Given the description of an element on the screen output the (x, y) to click on. 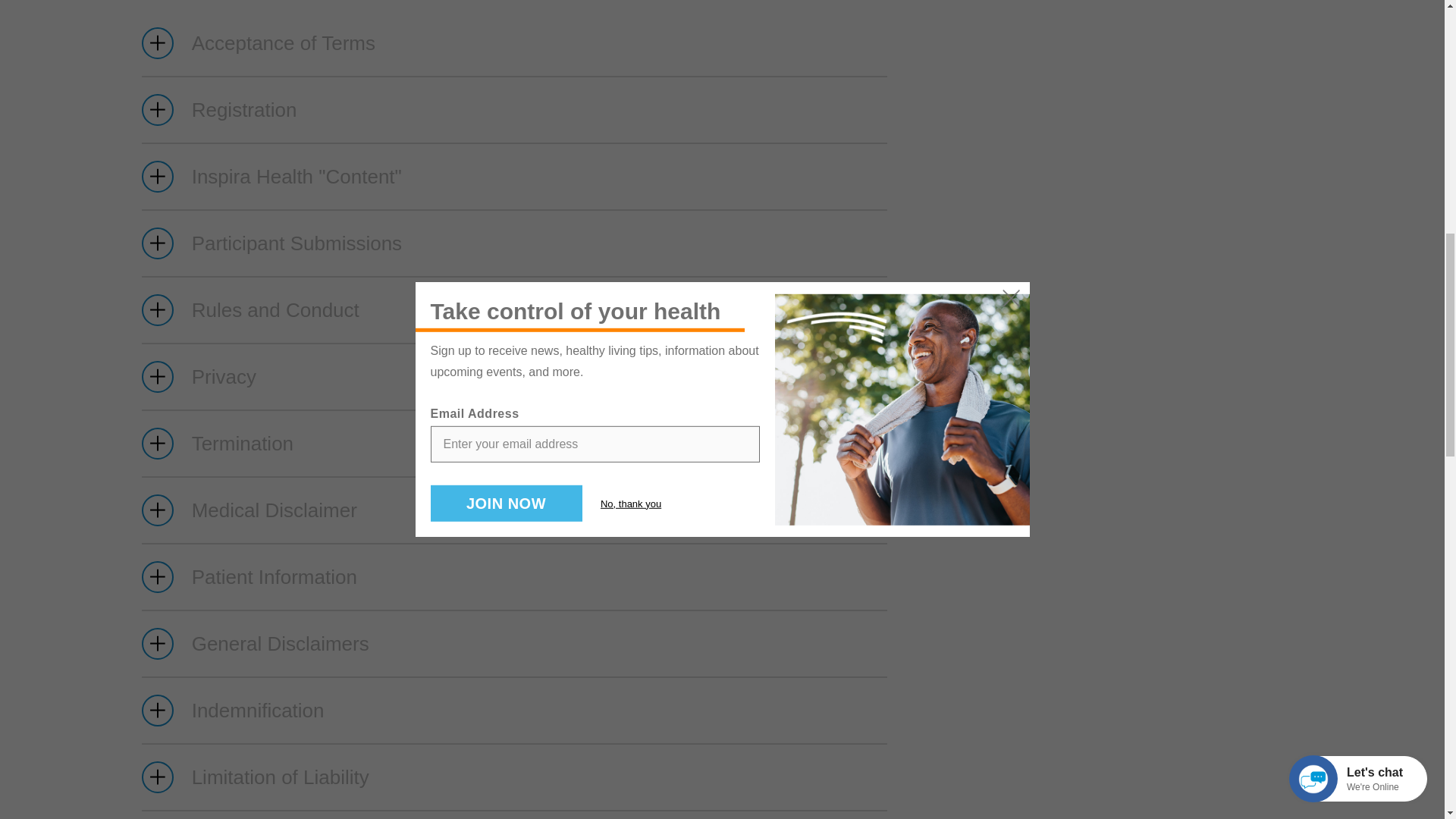
Open accordion content (513, 310)
Open accordion content (513, 43)
Patient Information (513, 576)
Open accordion content (513, 576)
Medical Disclaimer (513, 509)
Acceptance of Terms (513, 43)
Open accordion content (513, 109)
Open accordion content (513, 443)
Participant Submissions (513, 243)
Open accordion content (513, 643)
Inspira Health "Content" (513, 176)
Termination (513, 443)
Registration (513, 109)
Privacy (513, 376)
Open accordion content (513, 376)
